Given the description of an element on the screen output the (x, y) to click on. 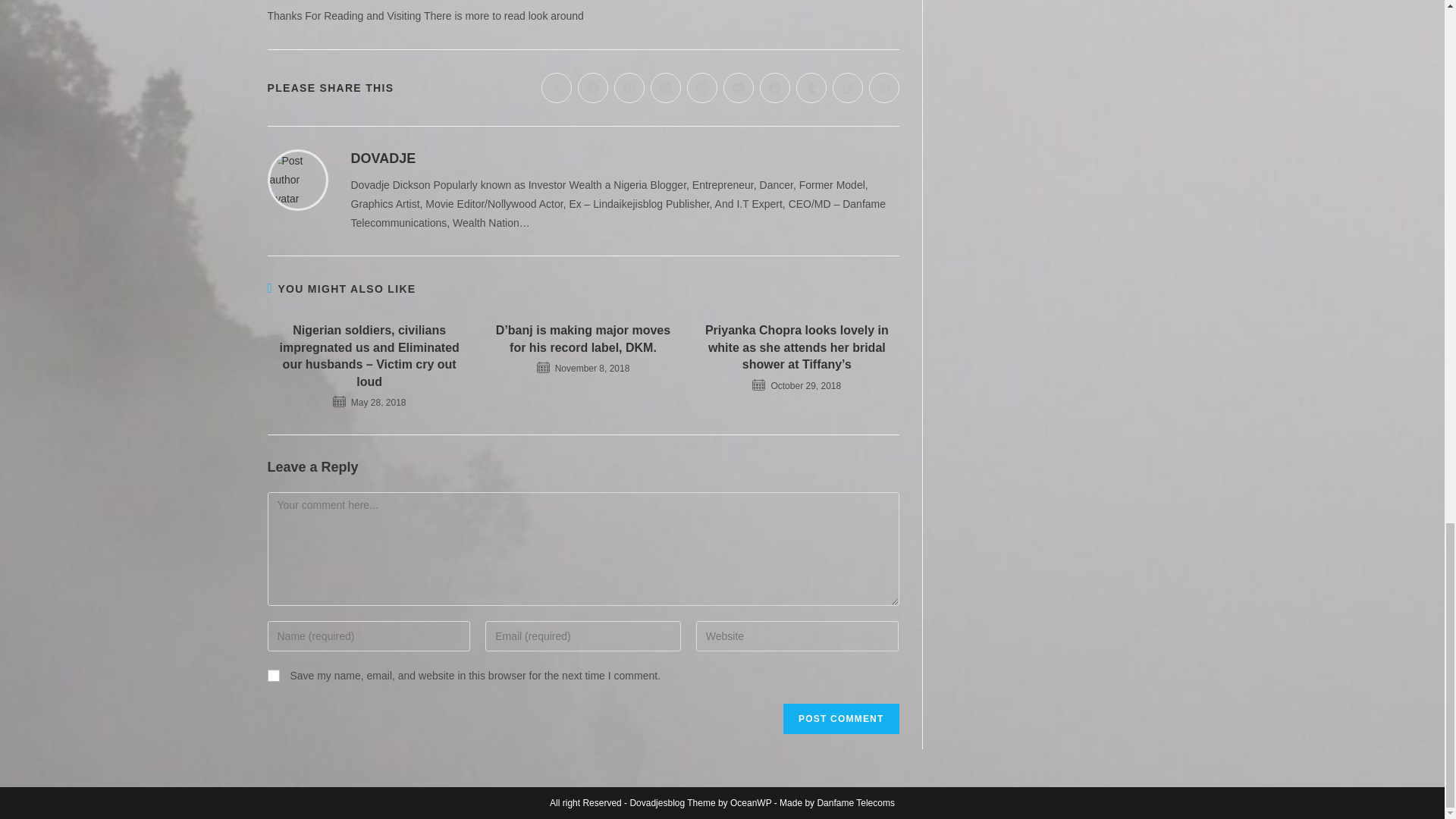
Opens in a new window (593, 87)
Opens in a new window (665, 87)
Visit author page (296, 178)
Opens in a new window (884, 87)
yes (272, 675)
Opens in a new window (847, 87)
Visit author page (382, 158)
Opens in a new window (738, 87)
Post Comment (840, 718)
Post Comment (840, 718)
Opens in a new window (811, 87)
Opens in a new window (775, 87)
Opens in a new window (702, 87)
DOVADJE (382, 158)
Opens in a new window (556, 87)
